Given the description of an element on the screen output the (x, y) to click on. 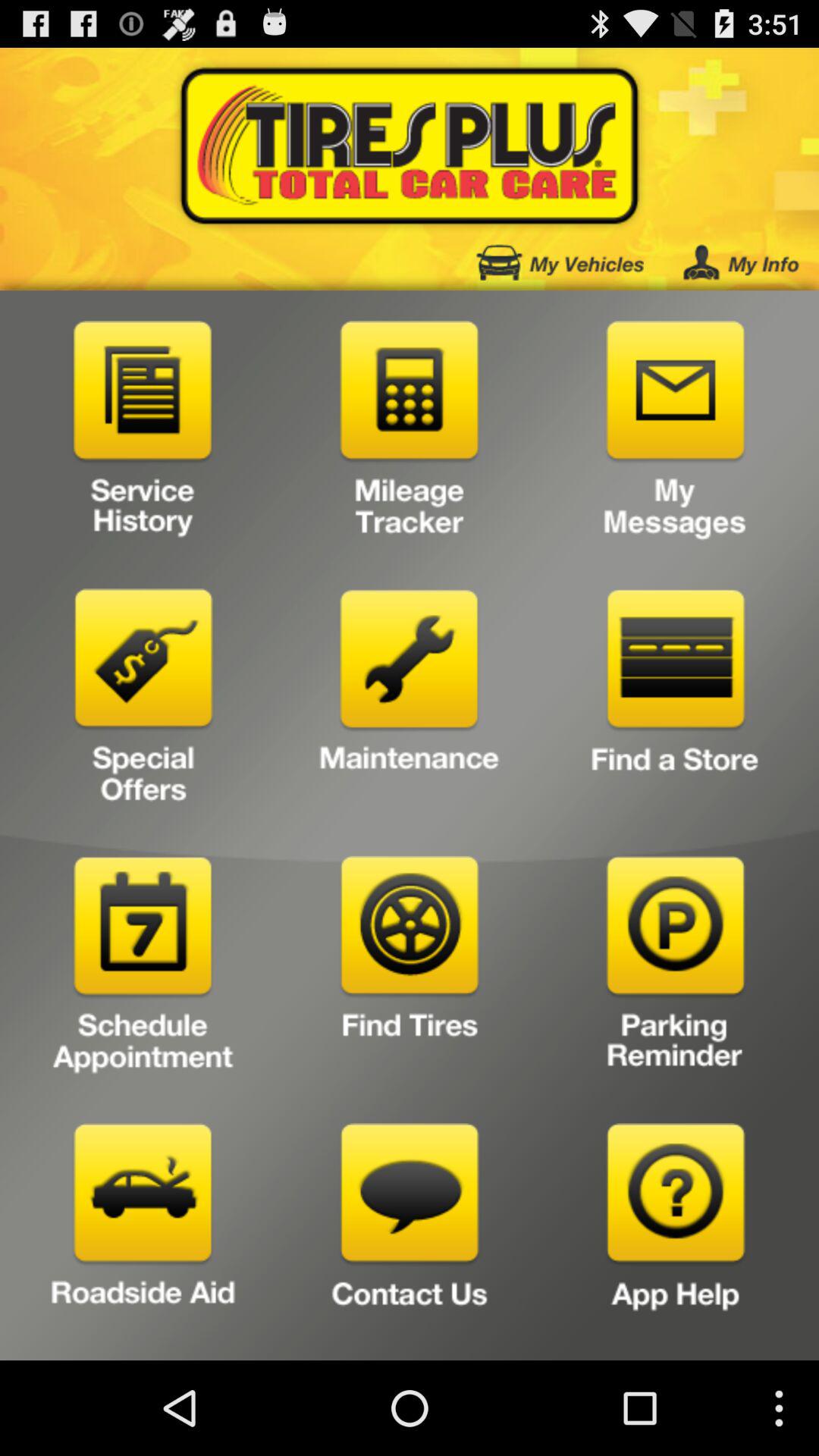
go to see special offers (142, 701)
